Given the description of an element on the screen output the (x, y) to click on. 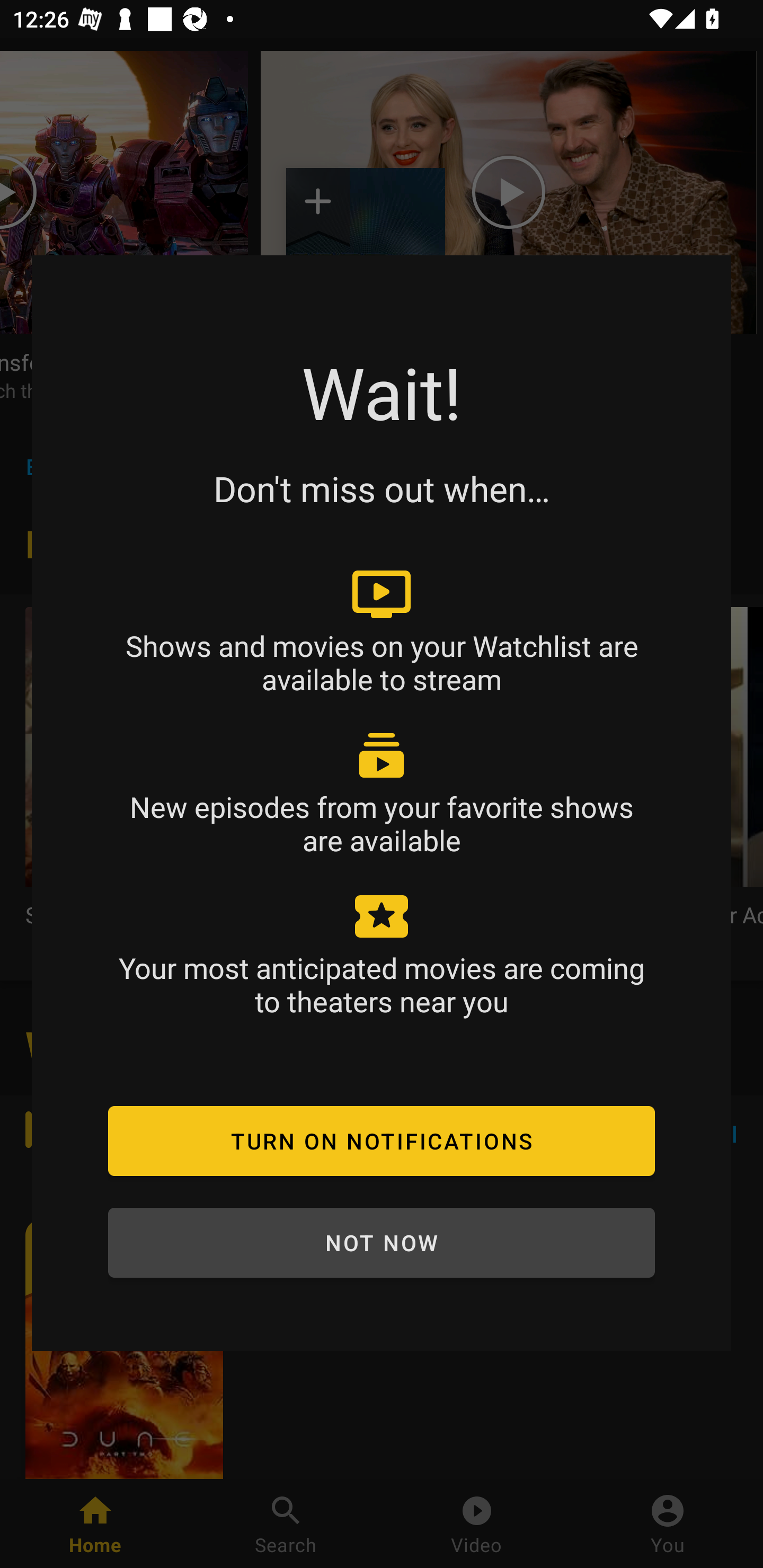
TURN ON NOTIFICATIONS (381, 1140)
NOT NOW (381, 1242)
